Given the description of an element on the screen output the (x, y) to click on. 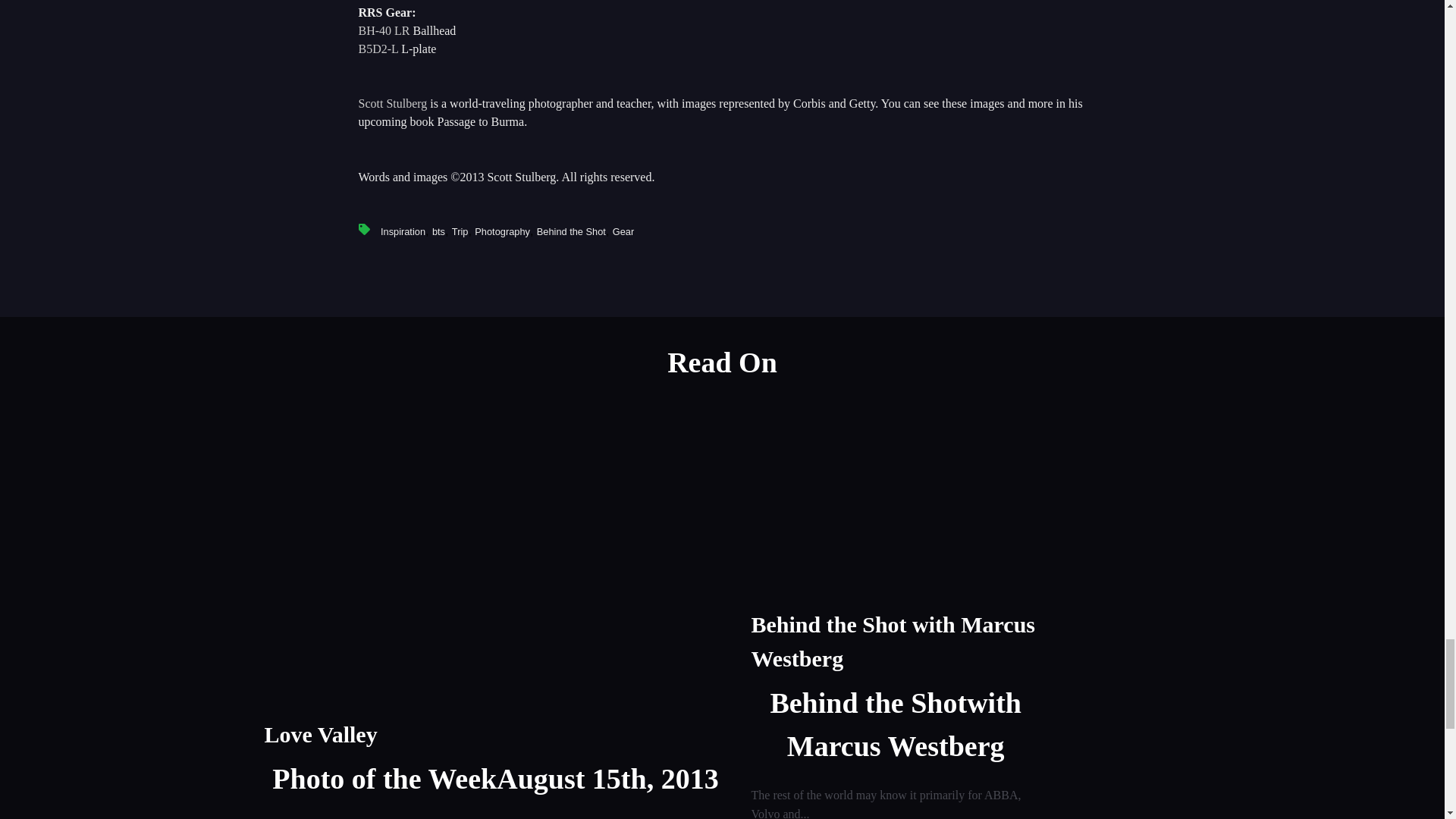
Inspiration (402, 231)
B5D2-L - L-plate for Canon 5D Mark II (377, 48)
Behind the Shot (571, 231)
Photography (501, 231)
Scott Stulberg (392, 103)
Scott Stulberg Photography - asa100.com (392, 103)
bts (438, 231)
BH-40 LR (383, 30)
B5D2-L (377, 48)
Trip (459, 231)
